Given the description of an element on the screen output the (x, y) to click on. 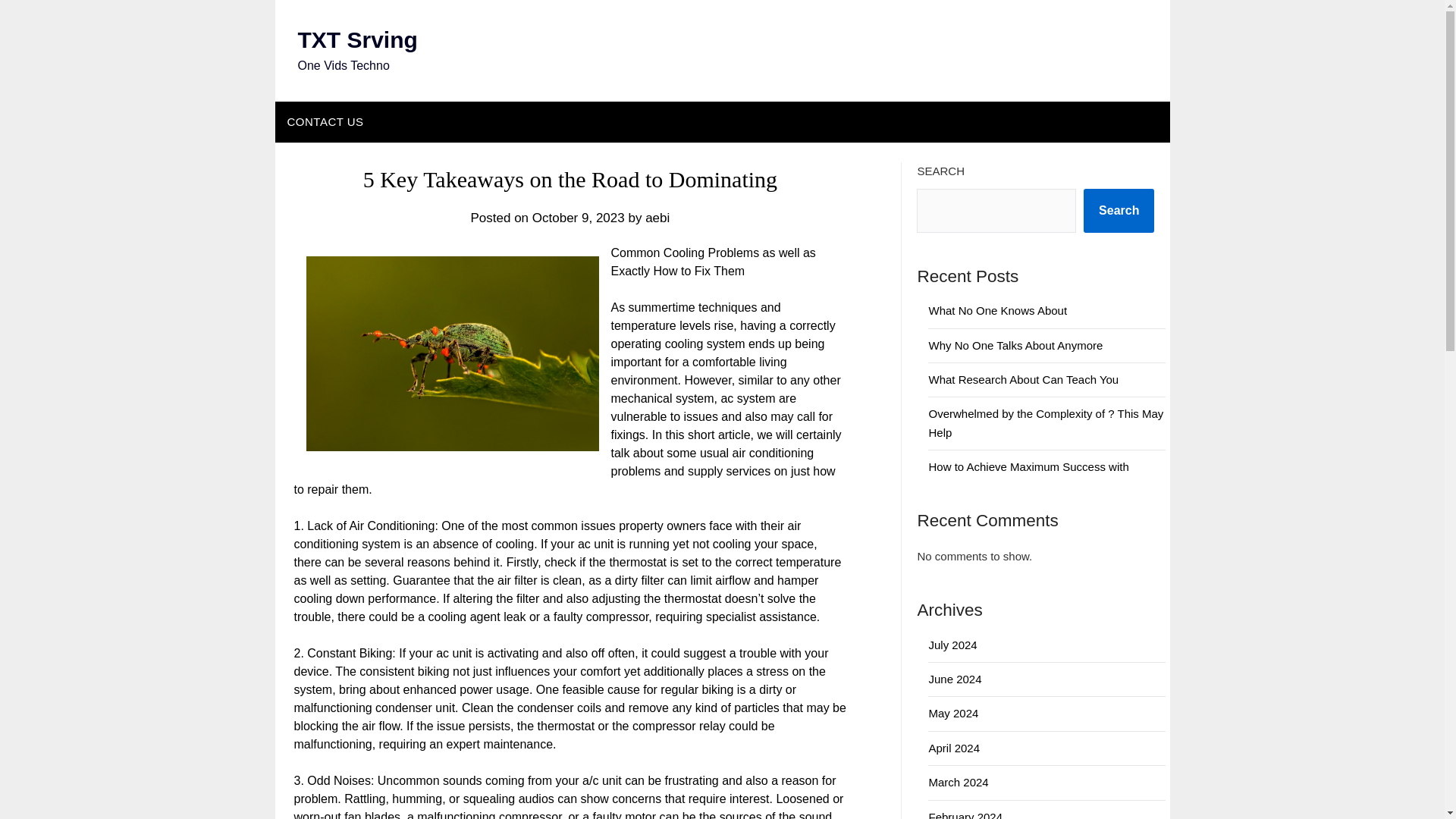
CONTACT US (325, 121)
TXT Srving (356, 39)
March 2024 (958, 781)
July 2024 (952, 644)
February 2024 (965, 814)
May 2024 (953, 712)
How to Achieve Maximum Success with (1028, 466)
Search (1118, 210)
What No One Knows About (997, 309)
Why No One Talks About Anymore (1015, 345)
aebi (657, 217)
Overwhelmed by the Complexity of ? This May Help (1045, 422)
October 9, 2023 (578, 217)
June 2024 (954, 678)
What Research About Can Teach You (1023, 379)
